Given the description of an element on the screen output the (x, y) to click on. 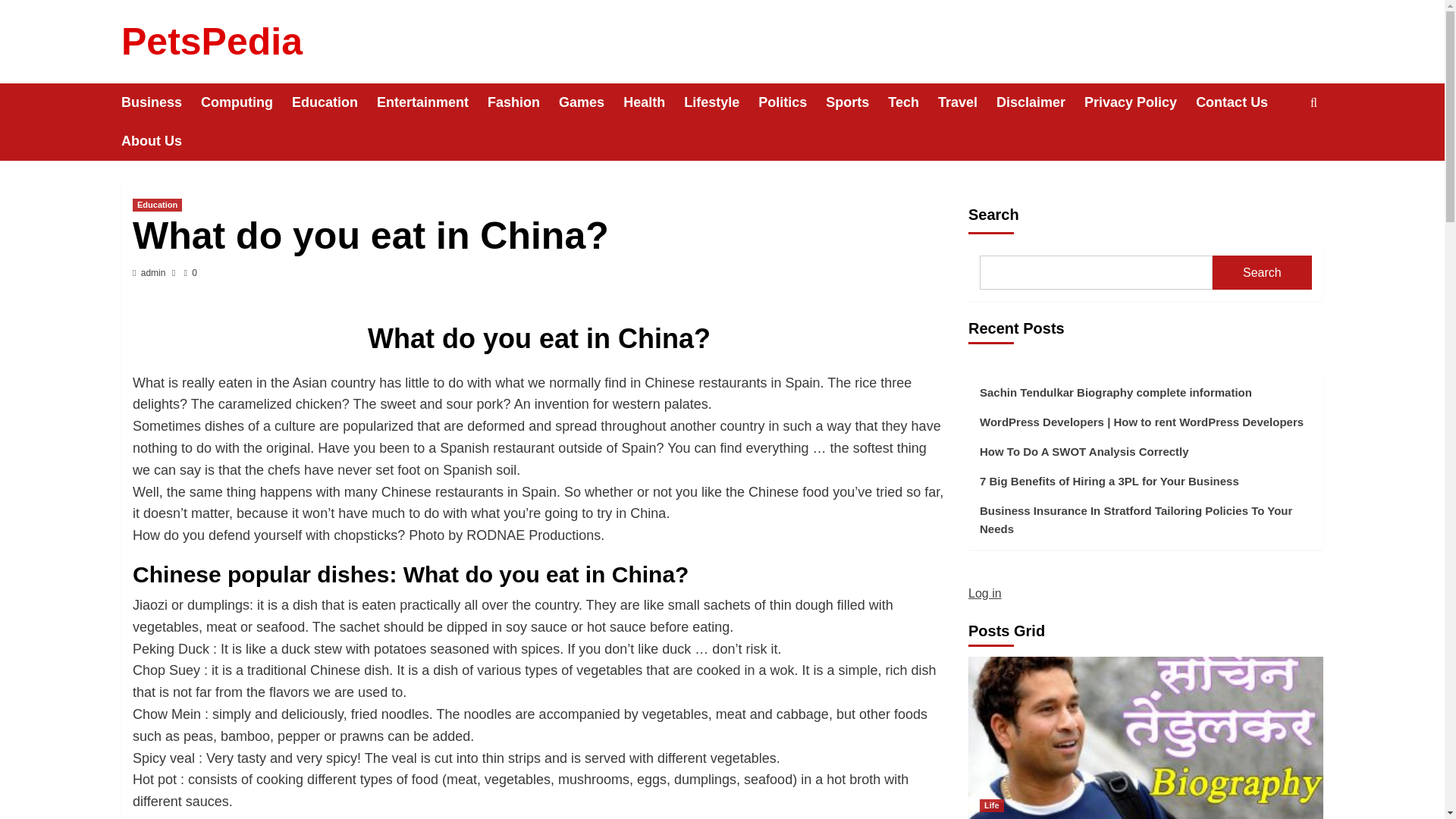
Fashion (523, 102)
Privacy Policy (1139, 102)
Politics (791, 102)
About Us (160, 141)
Games (591, 102)
Computing (246, 102)
admin (153, 272)
Entertainment (432, 102)
Health (653, 102)
Business (160, 102)
Disclaimer (1039, 102)
Lifestyle (721, 102)
0 (189, 272)
PetsPedia (211, 41)
Sports (856, 102)
